Given the description of an element on the screen output the (x, y) to click on. 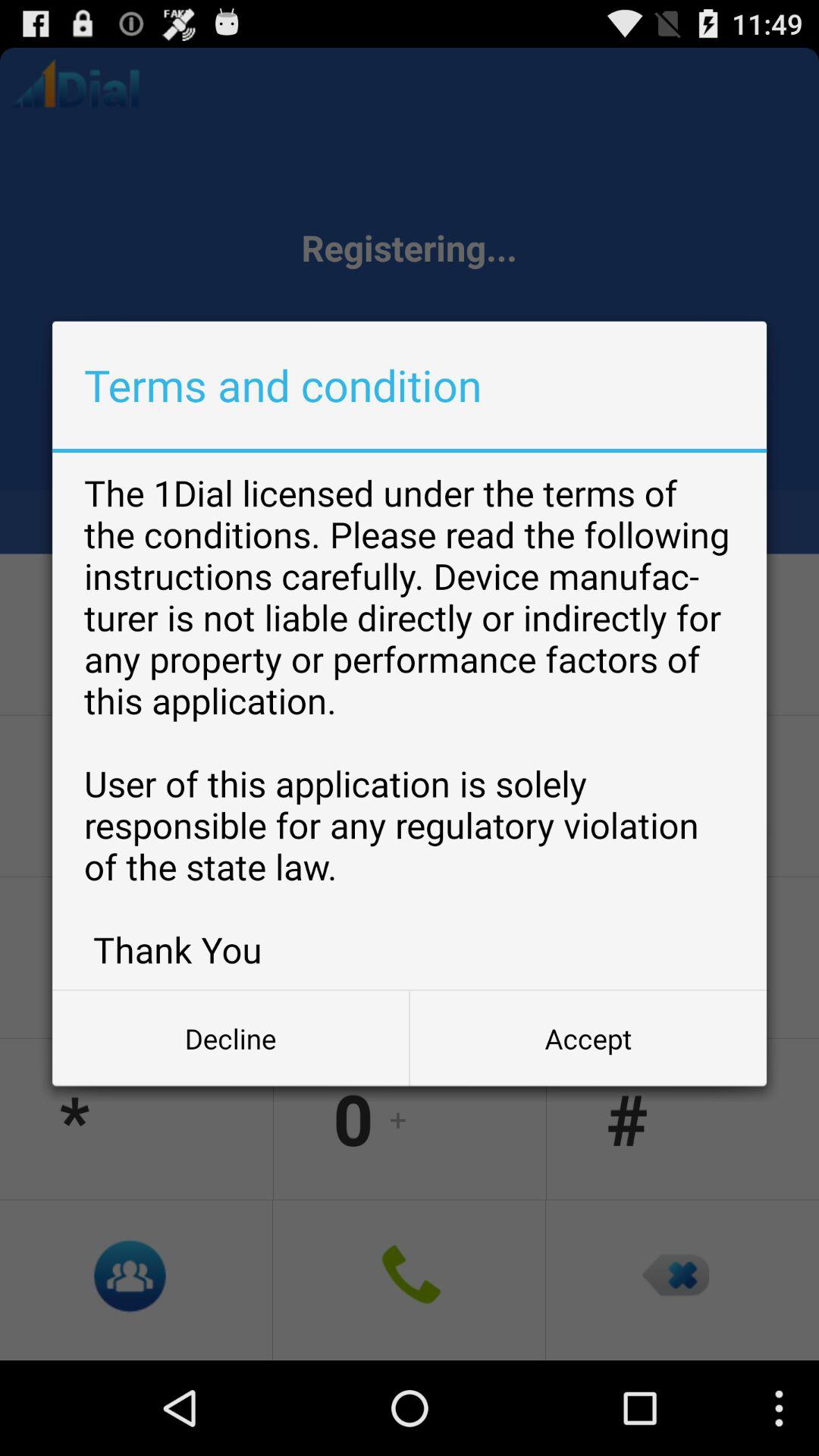
open the button to the right of decline button (588, 1038)
